Given the description of an element on the screen output the (x, y) to click on. 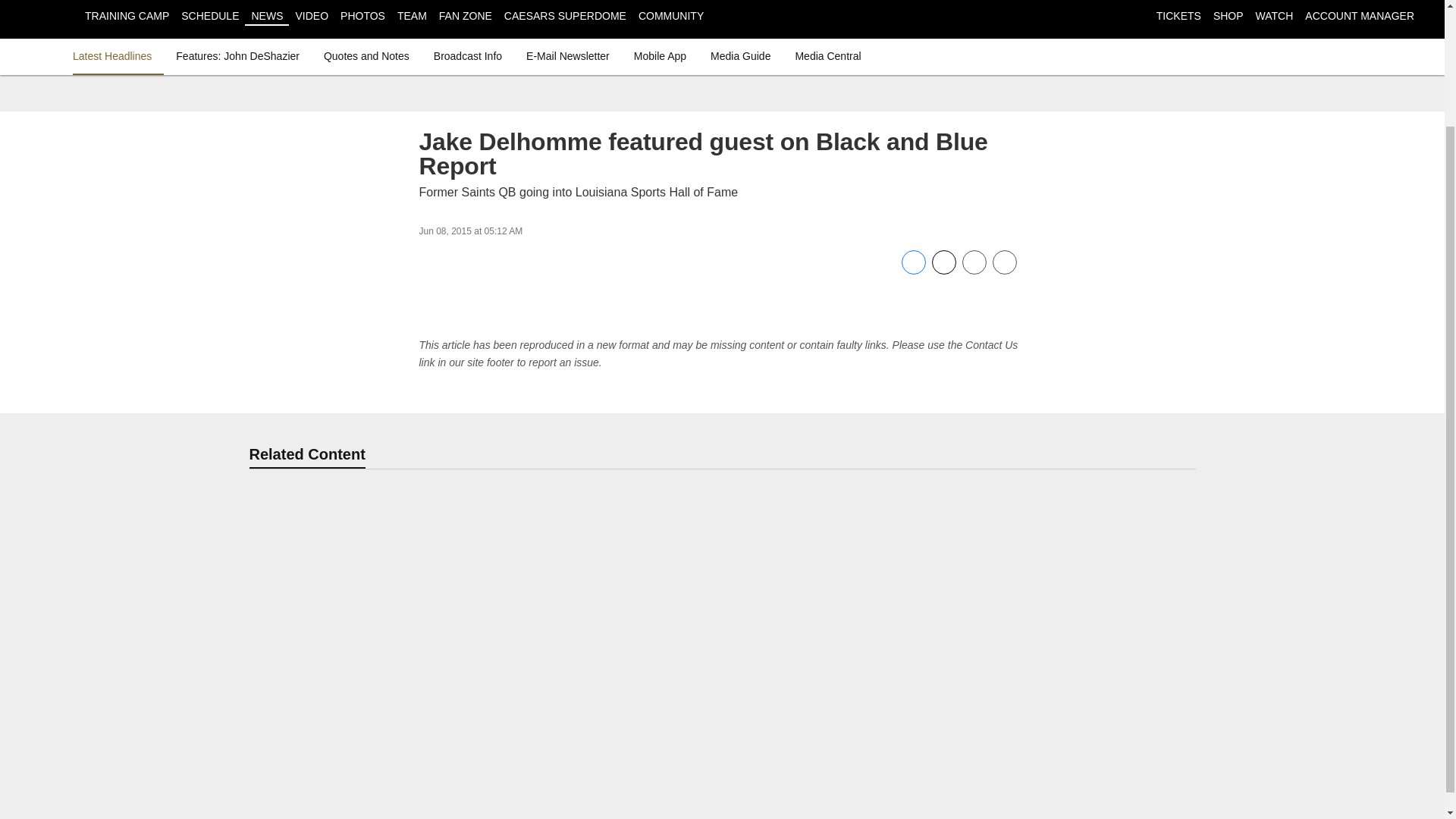
PHOTOS (362, 15)
FAN ZONE (465, 15)
SHOP (1227, 15)
TRAINING CAMP (126, 15)
VIDEO (312, 15)
CAESARS SUPERDOME (564, 15)
Features: John DeShazier (237, 55)
CAESARS SUPERDOME (564, 15)
TICKETS (1178, 15)
TEAM (411, 15)
Quotes and Notes (365, 55)
FAN ZONE (465, 15)
Broadcast Info (468, 55)
ACCOUNT MANAGER (1358, 15)
Media Central (827, 55)
